Given the description of an element on the screen output the (x, y) to click on. 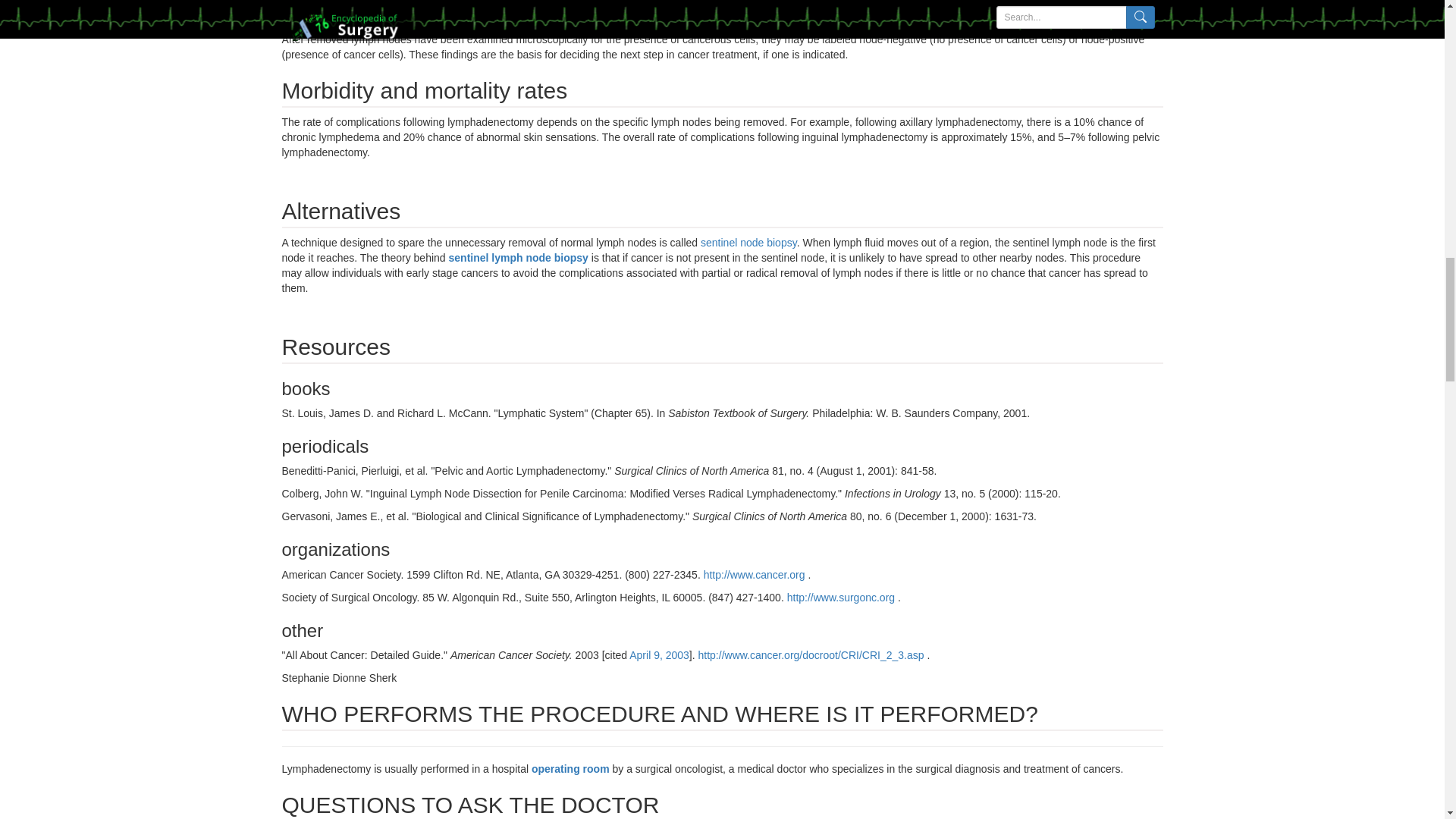
View 'april 9, 2003' definition from Wikipedia (658, 654)
operating room (571, 768)
April 9, 2003 (658, 654)
sentinel lymph node biopsy (519, 257)
sentinel node biopsy (748, 242)
View 'sentinel node biopsy' definition from Wikipedia (748, 242)
